Given the description of an element on the screen output the (x, y) to click on. 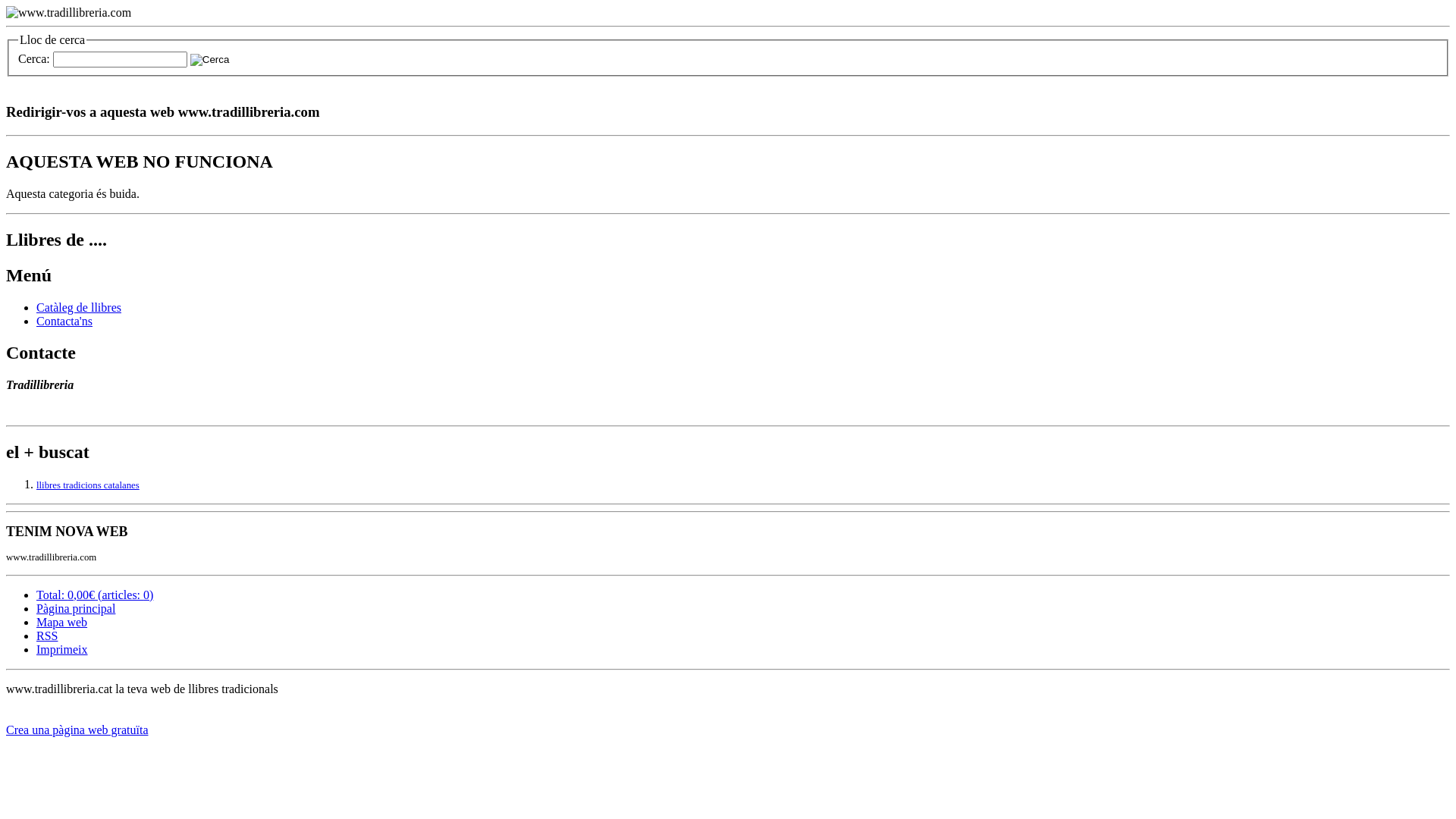
RSS Element type: text (46, 635)
Mapa web Element type: text (61, 621)
Contacta'ns Element type: text (64, 320)
llibres tradicions catalanes Element type: text (87, 485)
Imprimeix Element type: text (61, 649)
